Given the description of an element on the screen output the (x, y) to click on. 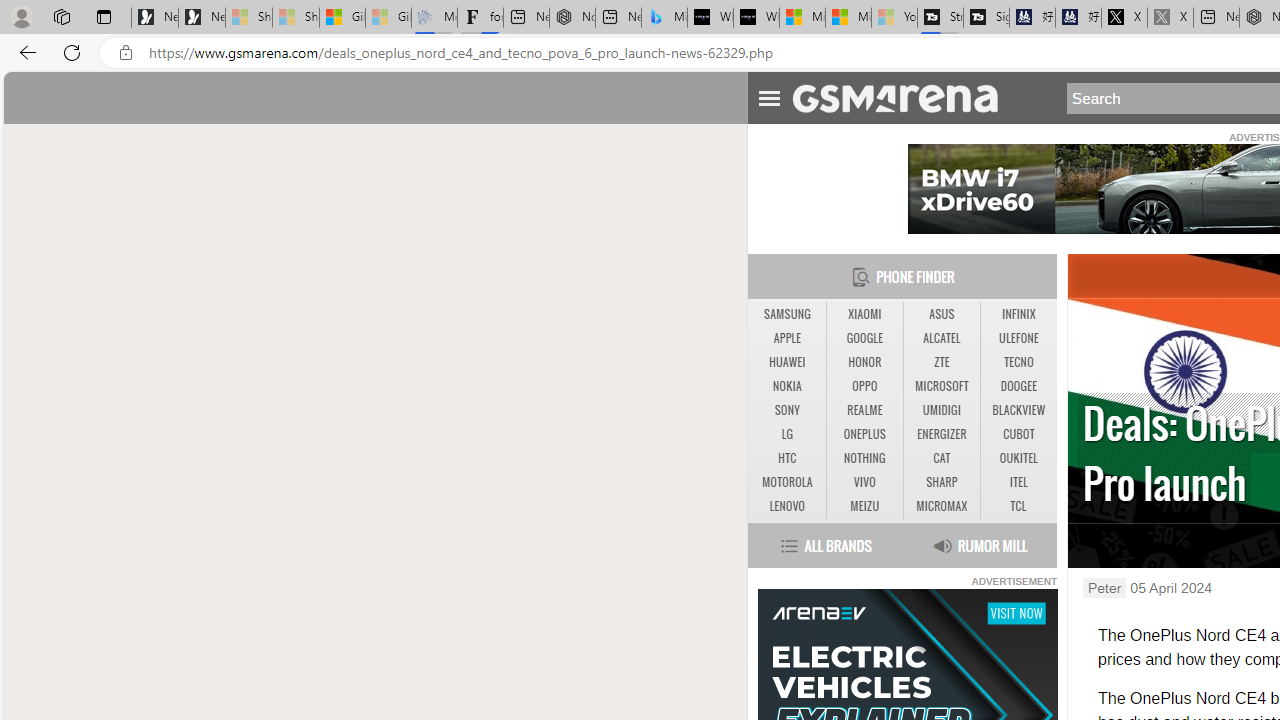
ITEL (1018, 483)
ITEL (1018, 482)
MOTOROLA (786, 483)
CUBOT (1018, 434)
HTC (786, 458)
HUAWEI (786, 362)
AutomationID: anchor (904, 97)
OPPO (863, 385)
APPLE (786, 338)
APPLE (786, 339)
ZTE (941, 362)
MICROMAX (941, 506)
INFINIX (1018, 313)
MICROSOFT (941, 386)
